Given the description of an element on the screen output the (x, y) to click on. 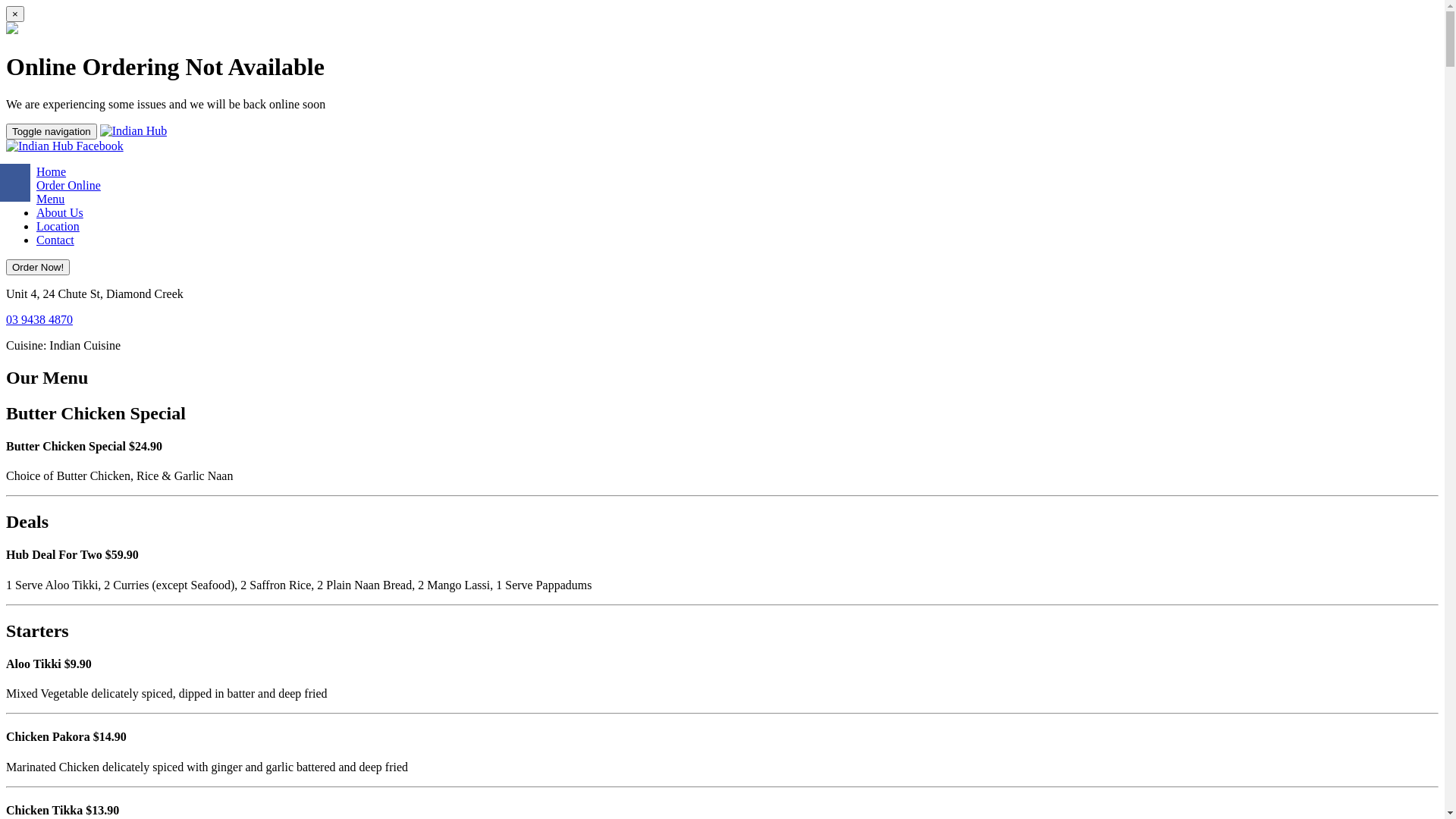
Order Online Element type: text (68, 184)
Menu Element type: text (50, 198)
About Us Element type: text (59, 212)
Share on Facebook Element type: hover (15, 182)
Toggle navigation Element type: text (51, 131)
Order Now! Element type: text (37, 266)
03 9438 4870 Element type: text (39, 319)
Location Element type: text (57, 225)
Contact Element type: text (55, 239)
Order Now! Element type: text (37, 267)
Home Element type: text (50, 171)
